Given the description of an element on the screen output the (x, y) to click on. 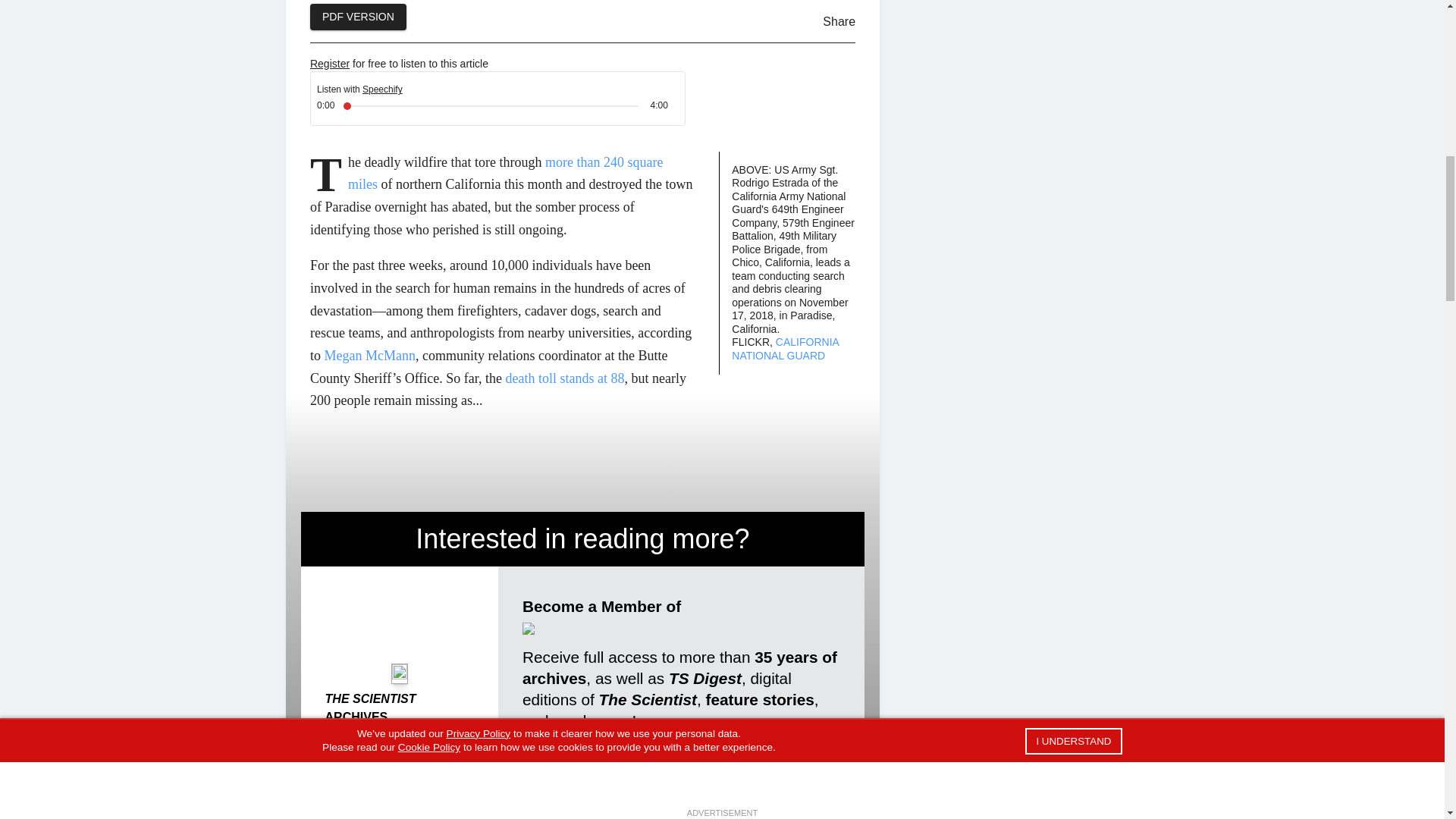
Katarina Zimmer (347, 791)
